Given the description of an element on the screen output the (x, y) to click on. 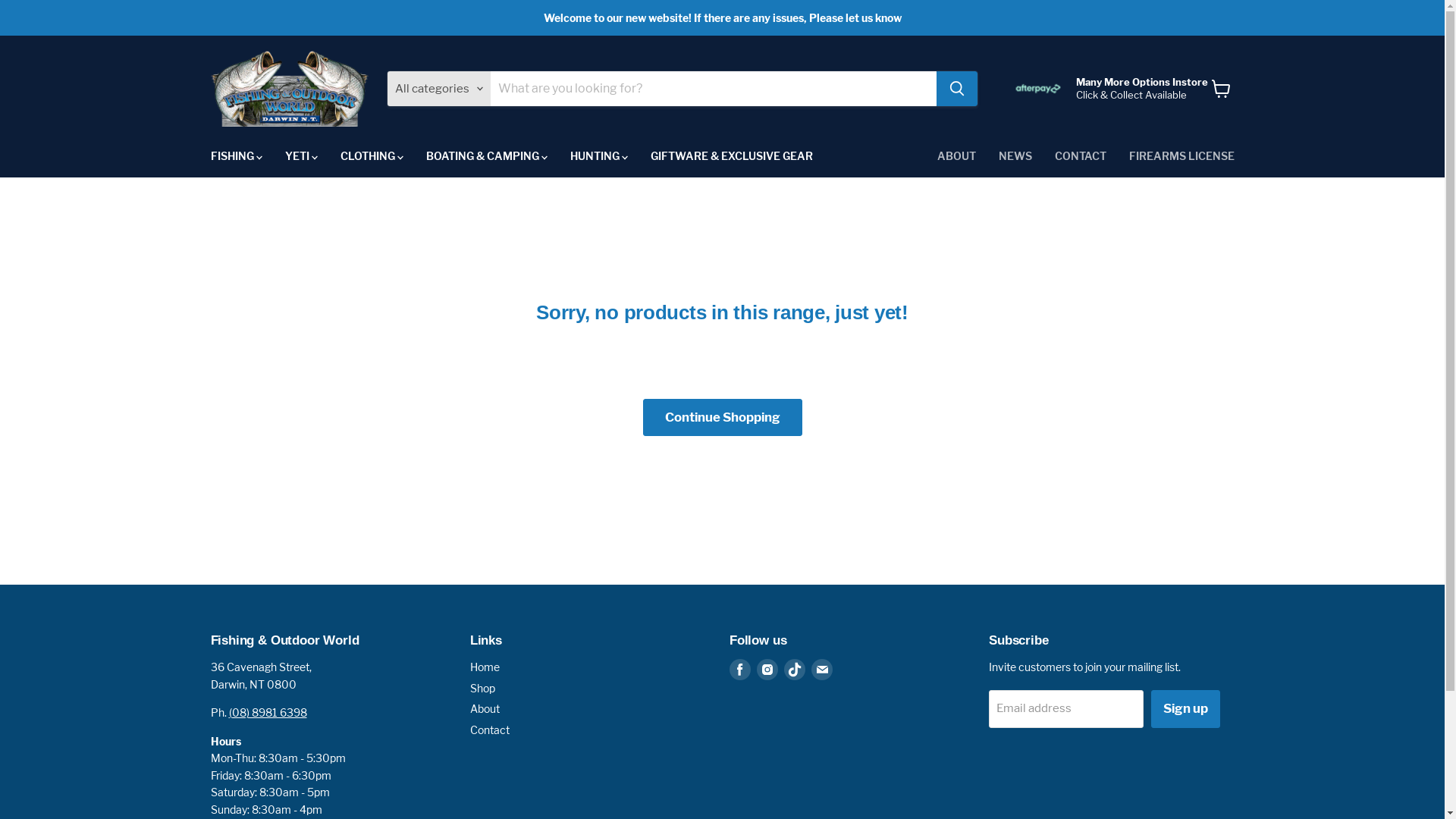
(08) 8981 6398 Element type: text (268, 712)
ABOUT Element type: text (955, 155)
Find us on Facebook Element type: text (739, 669)
Sign up Element type: text (1185, 708)
CONTACT Element type: text (1080, 155)
FIREARMS LICENSE Element type: text (1181, 155)
Shop Element type: text (482, 687)
GIFTWARE & EXCLUSIVE GEAR Element type: text (730, 155)
NEWS Element type: text (1015, 155)
Find us on Email Element type: text (821, 669)
Find us on TikTok Element type: text (794, 669)
About Element type: text (484, 708)
Contact Element type: text (489, 729)
Many More Options Instore
Click & Collect Available Element type: text (1107, 88)
Home Element type: text (484, 666)
Continue Shopping Element type: text (722, 417)
Find us on Instagram Element type: text (767, 669)
View cart Element type: text (1221, 88)
